Given the description of an element on the screen output the (x, y) to click on. 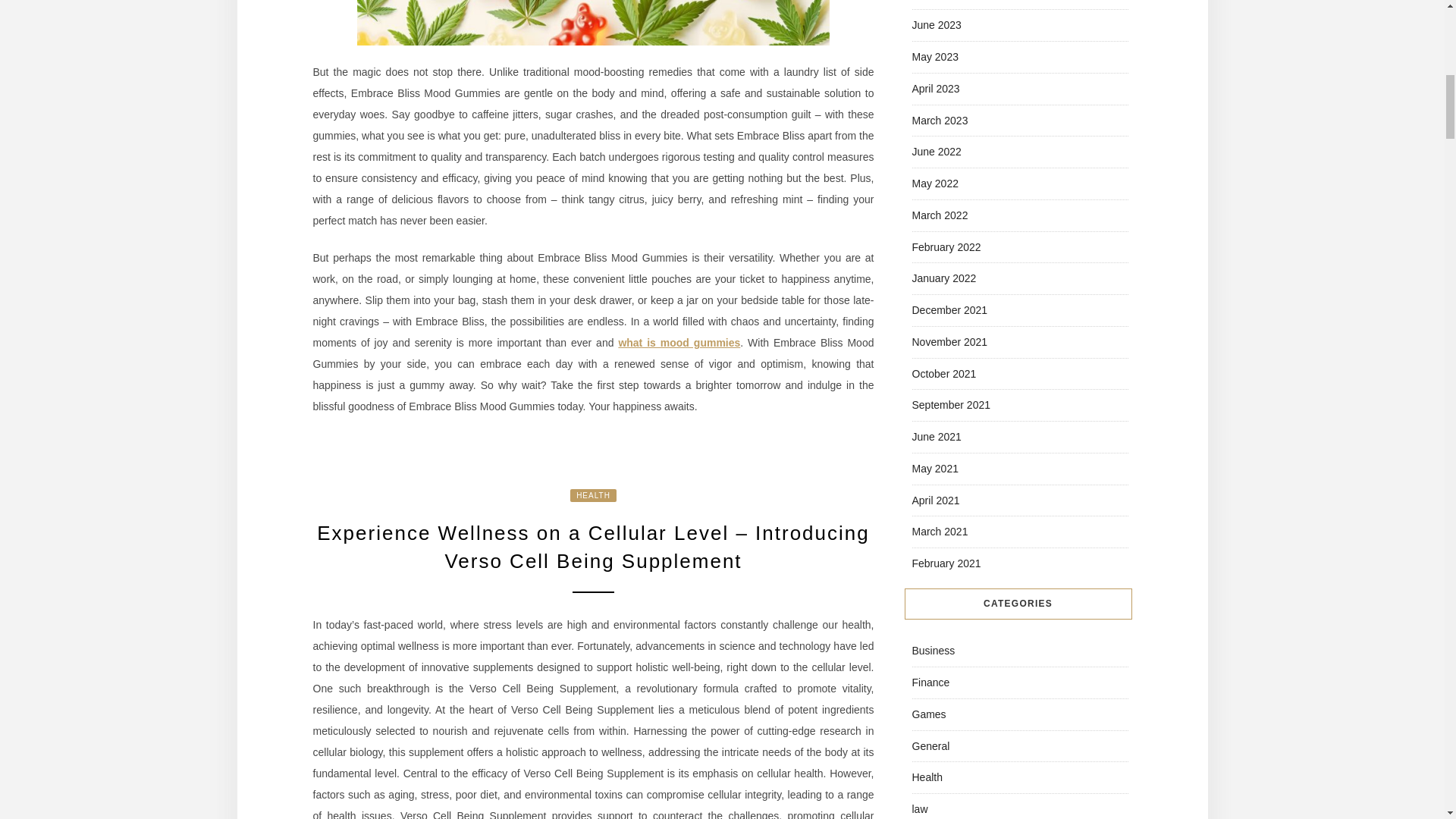
HEALTH (592, 495)
what is mood gummies (678, 342)
